Given the description of an element on the screen output the (x, y) to click on. 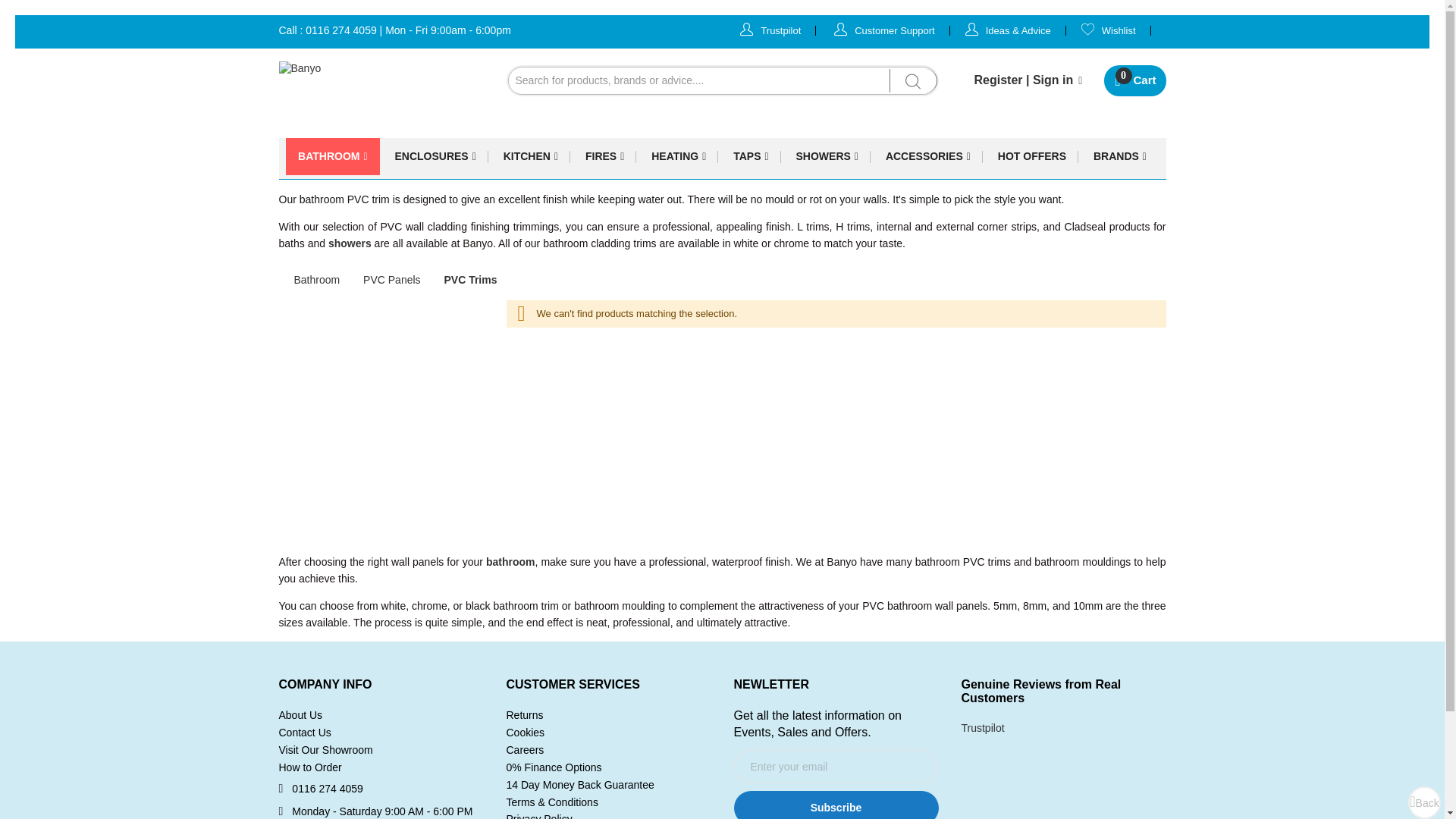
bathroom (510, 562)
Search (912, 80)
Trustpilot (1134, 80)
showers (769, 30)
Customer Support (350, 243)
Banyo (884, 30)
Subscribe (381, 93)
Banyo (836, 805)
Wishlist (319, 93)
